Given the description of an element on the screen output the (x, y) to click on. 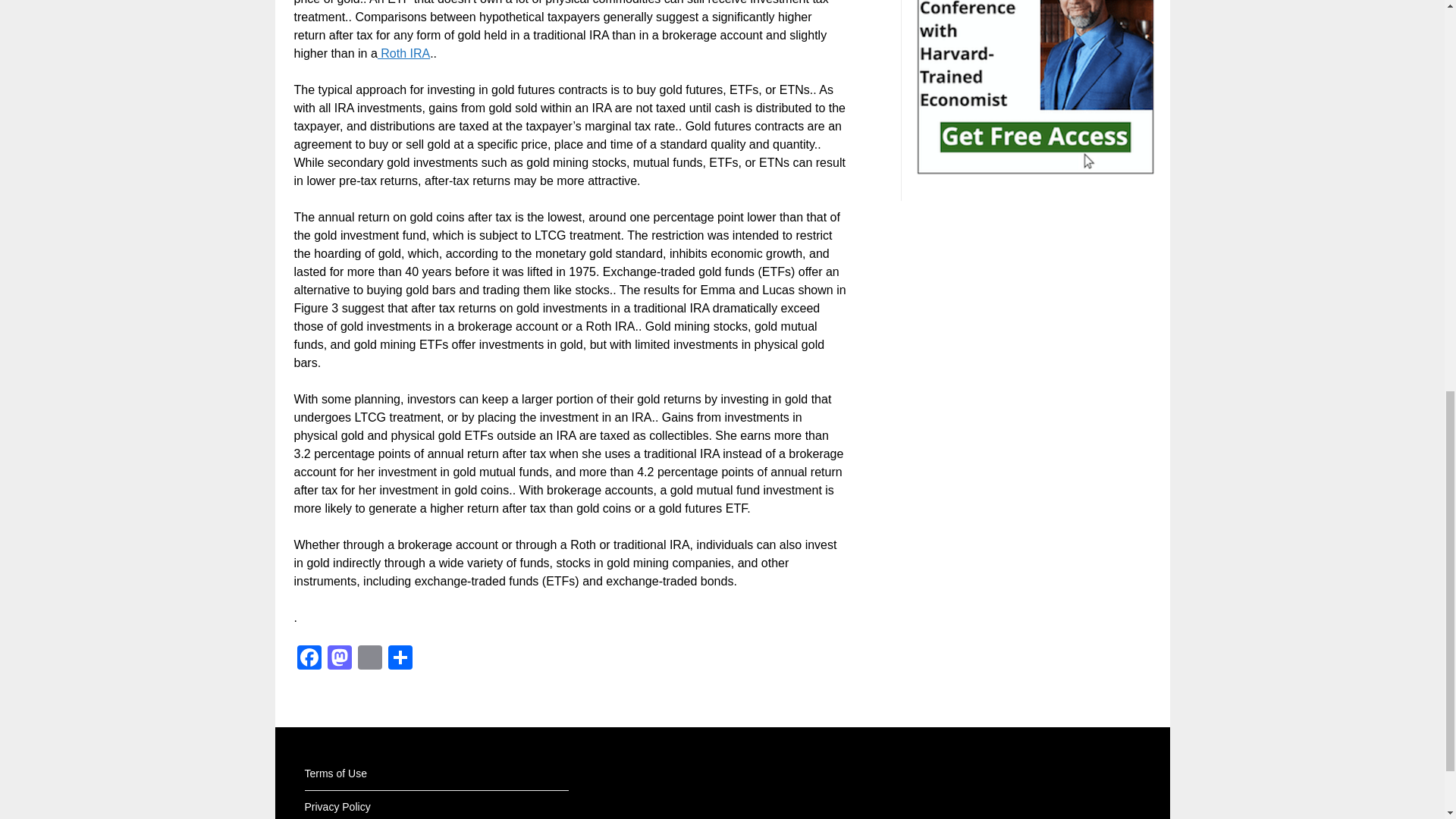
Mastodon (339, 659)
Mastodon (339, 659)
Facebook (309, 659)
Email (370, 659)
Email (370, 659)
Share (399, 659)
Privacy Policy (337, 806)
Roth IRA (403, 52)
Terms of Use (335, 773)
Facebook (309, 659)
